Given the description of an element on the screen output the (x, y) to click on. 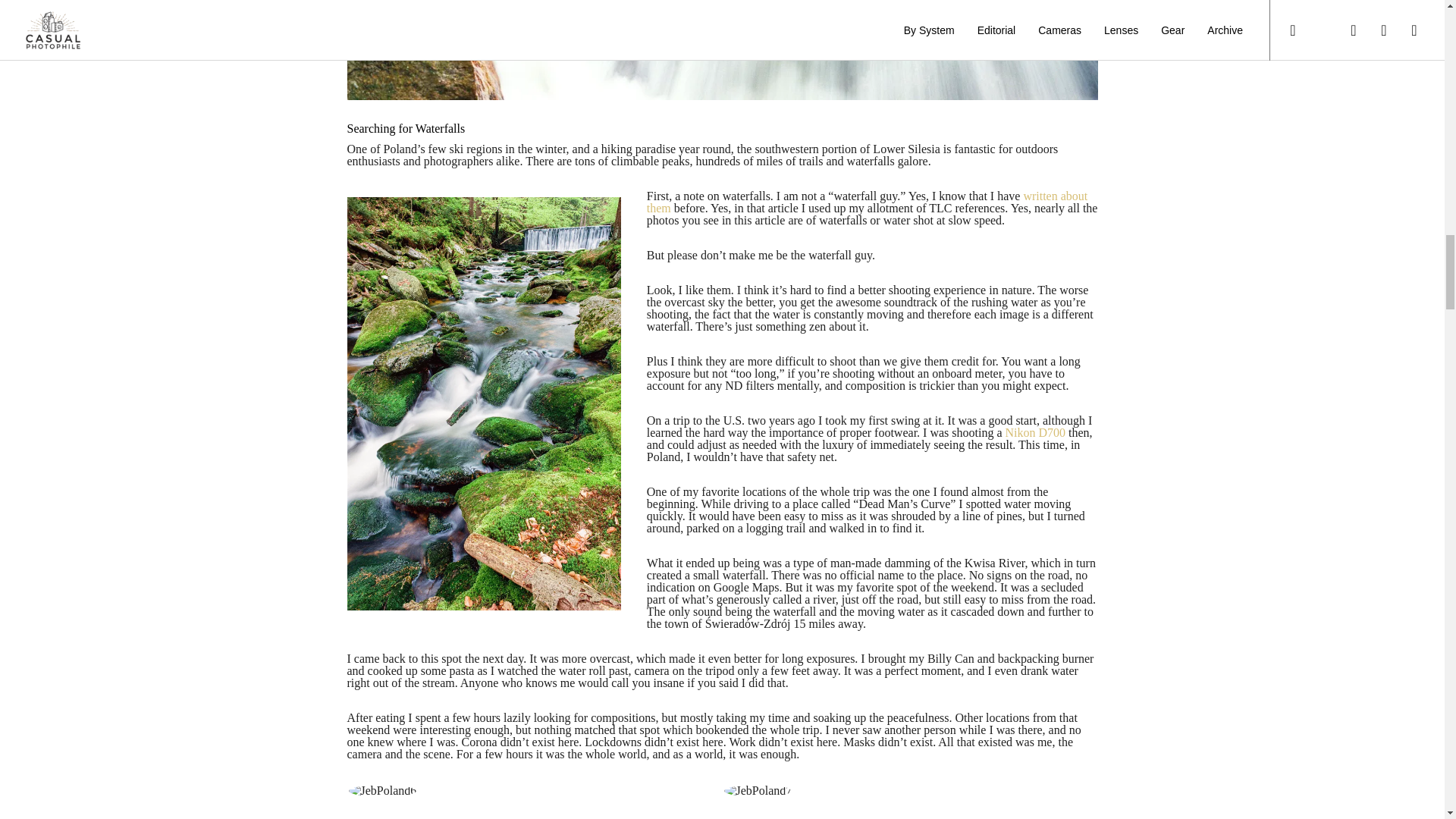
JebPoland6 (382, 790)
JebPoland7 (757, 790)
